Given the description of an element on the screen output the (x, y) to click on. 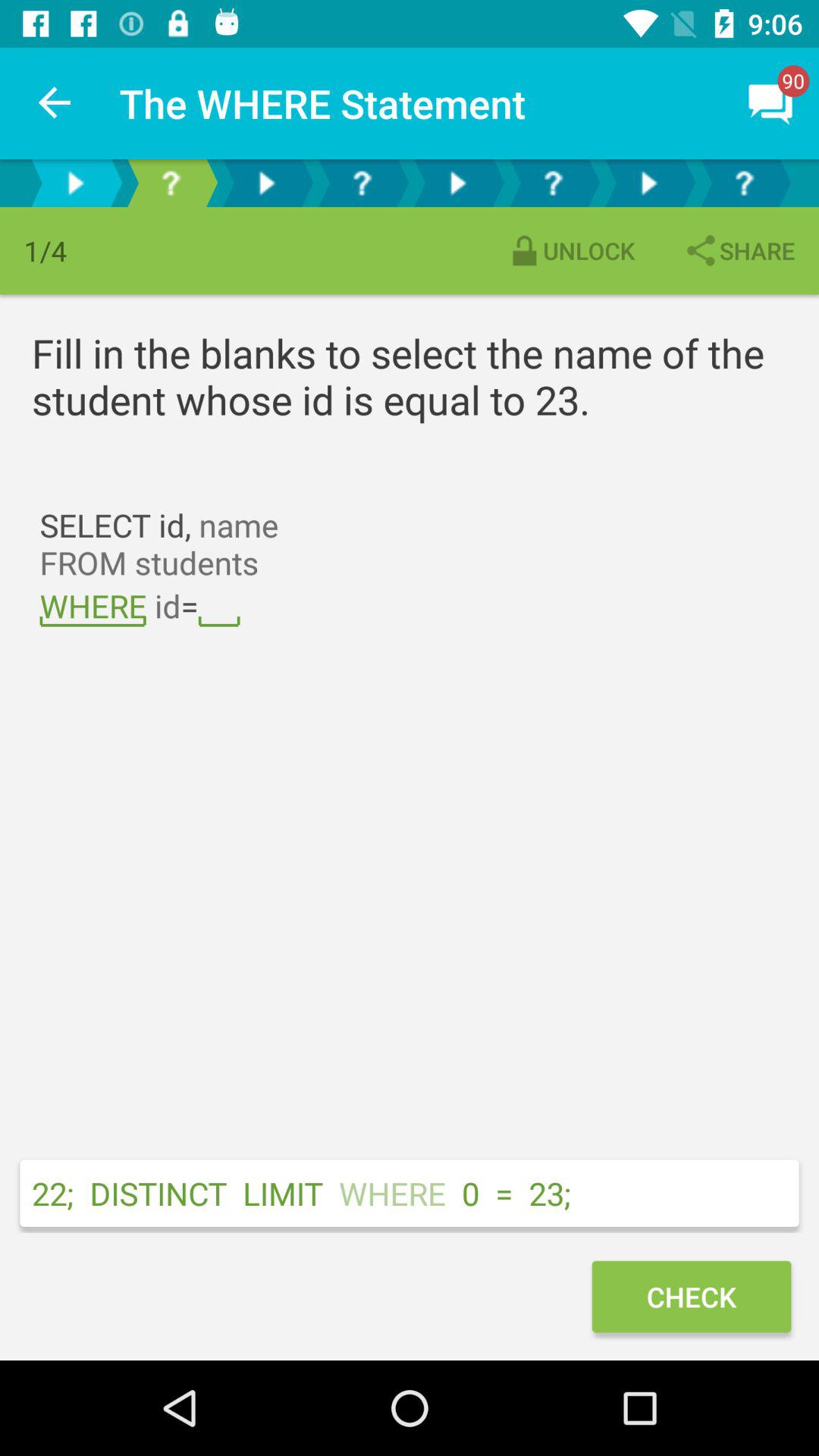
select tab (361, 183)
